Given the description of an element on the screen output the (x, y) to click on. 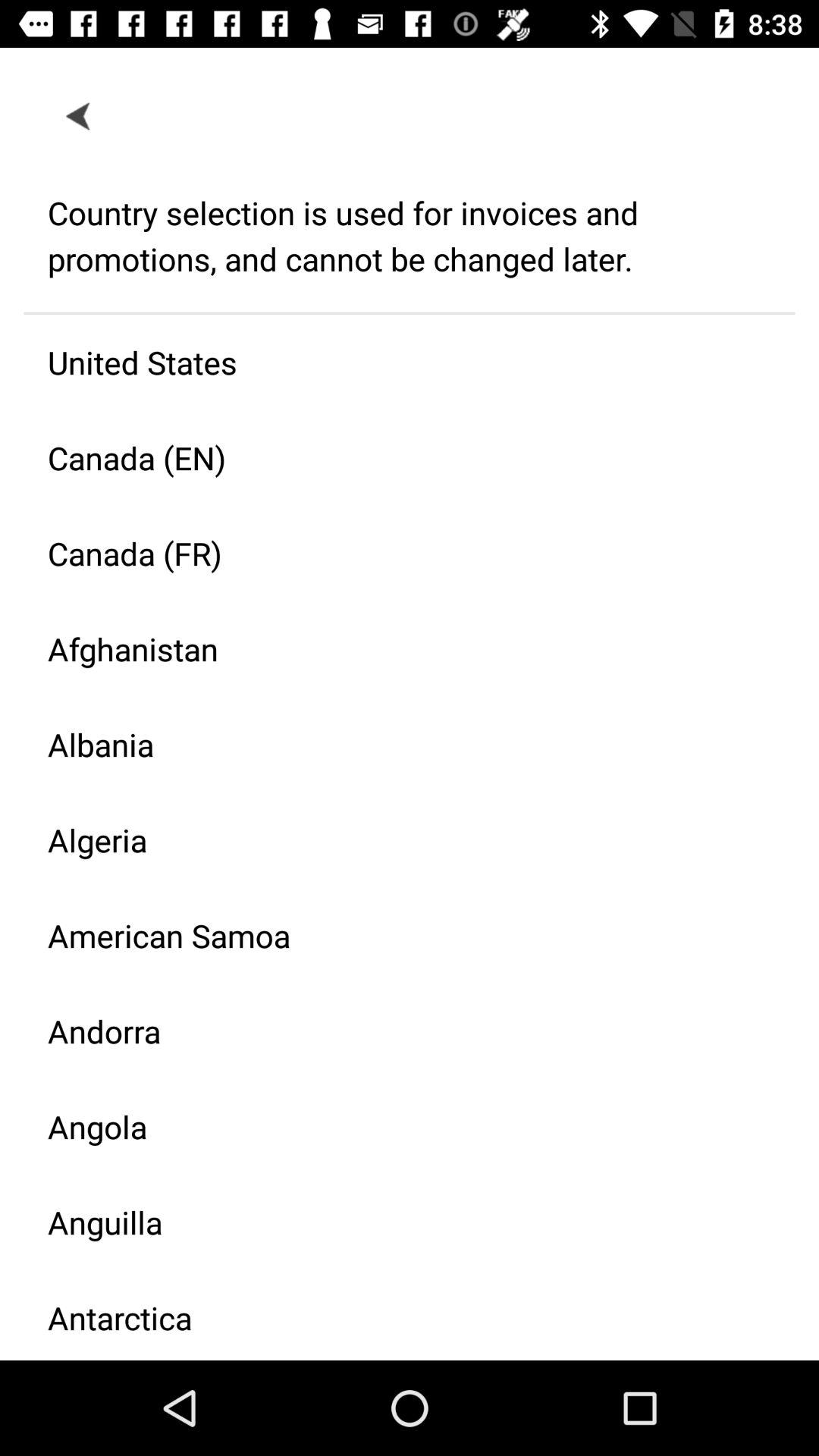
click the canada (en) (397, 457)
